Given the description of an element on the screen output the (x, y) to click on. 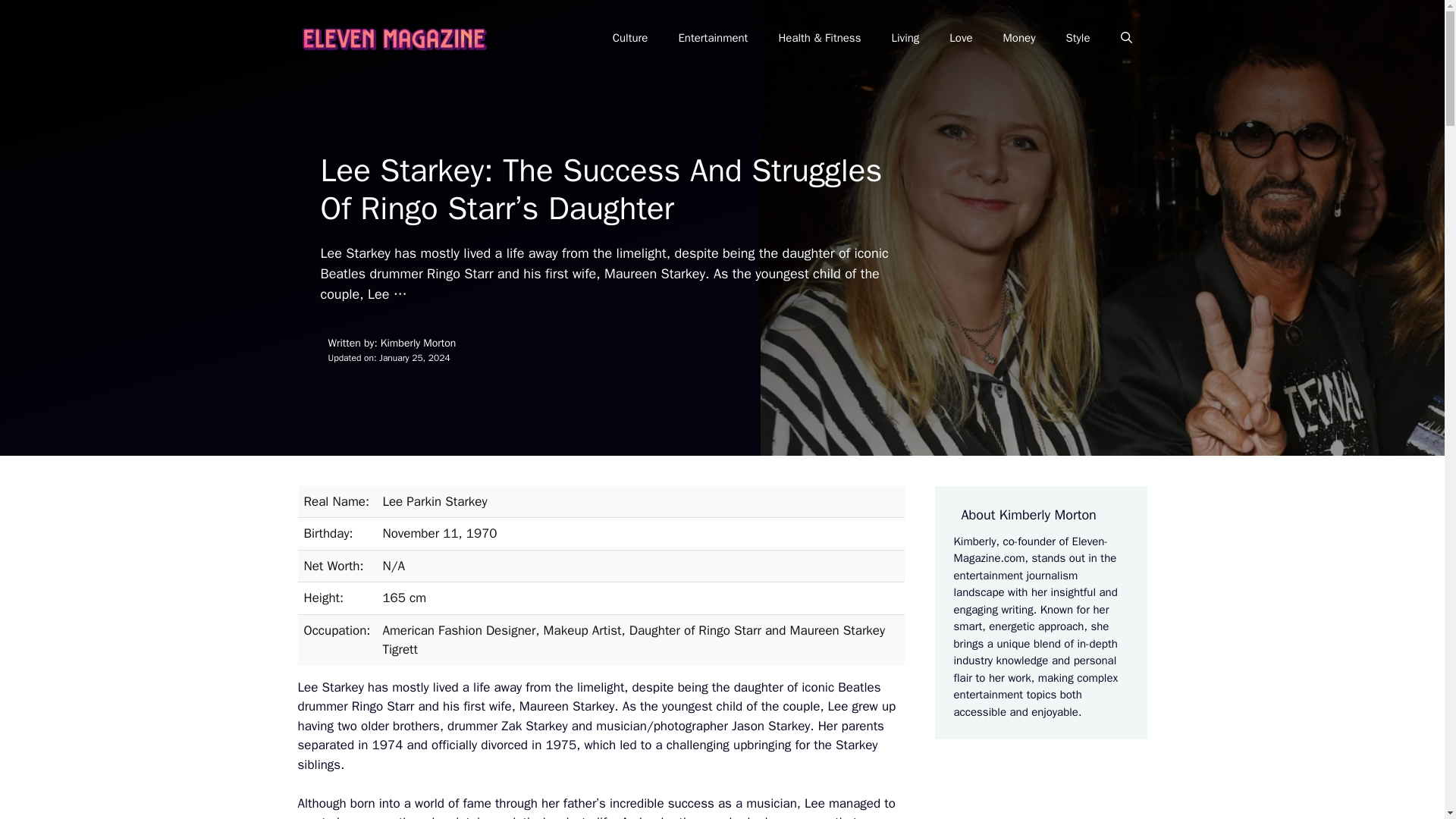
Love (960, 37)
Culture (629, 37)
Style (1077, 37)
Entertainment (712, 37)
Money (1019, 37)
Living (905, 37)
